Given the description of an element on the screen output the (x, y) to click on. 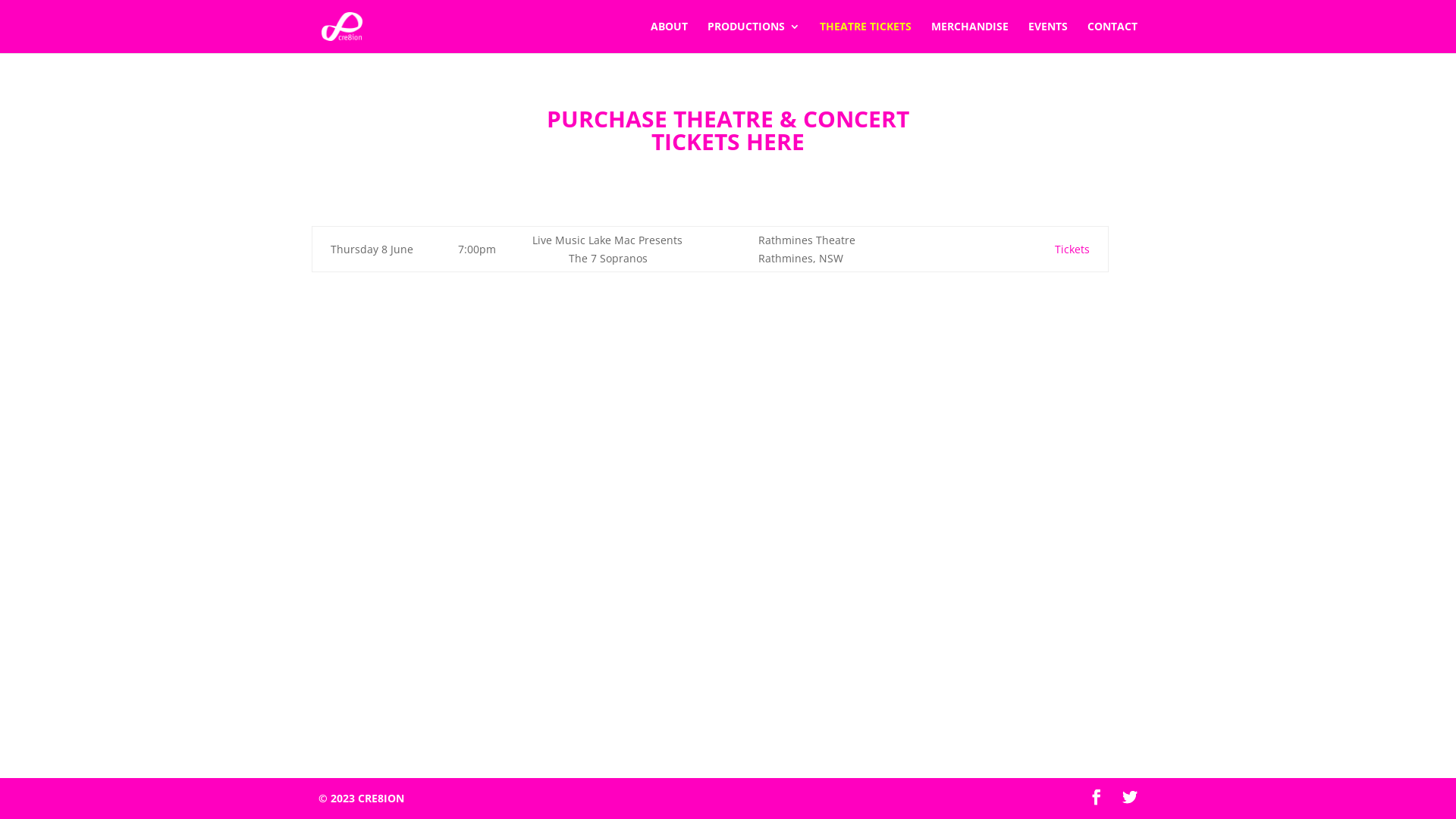
CONTACT Element type: text (1112, 37)
MERCHANDISE Element type: text (969, 37)
EVENTS Element type: text (1047, 37)
ABOUT Element type: text (668, 37)
PRODUCTIONS Element type: text (753, 37)
Tickets Element type: text (1071, 248)
THEATRE TICKETS Element type: text (865, 37)
